Given the description of an element on the screen output the (x, y) to click on. 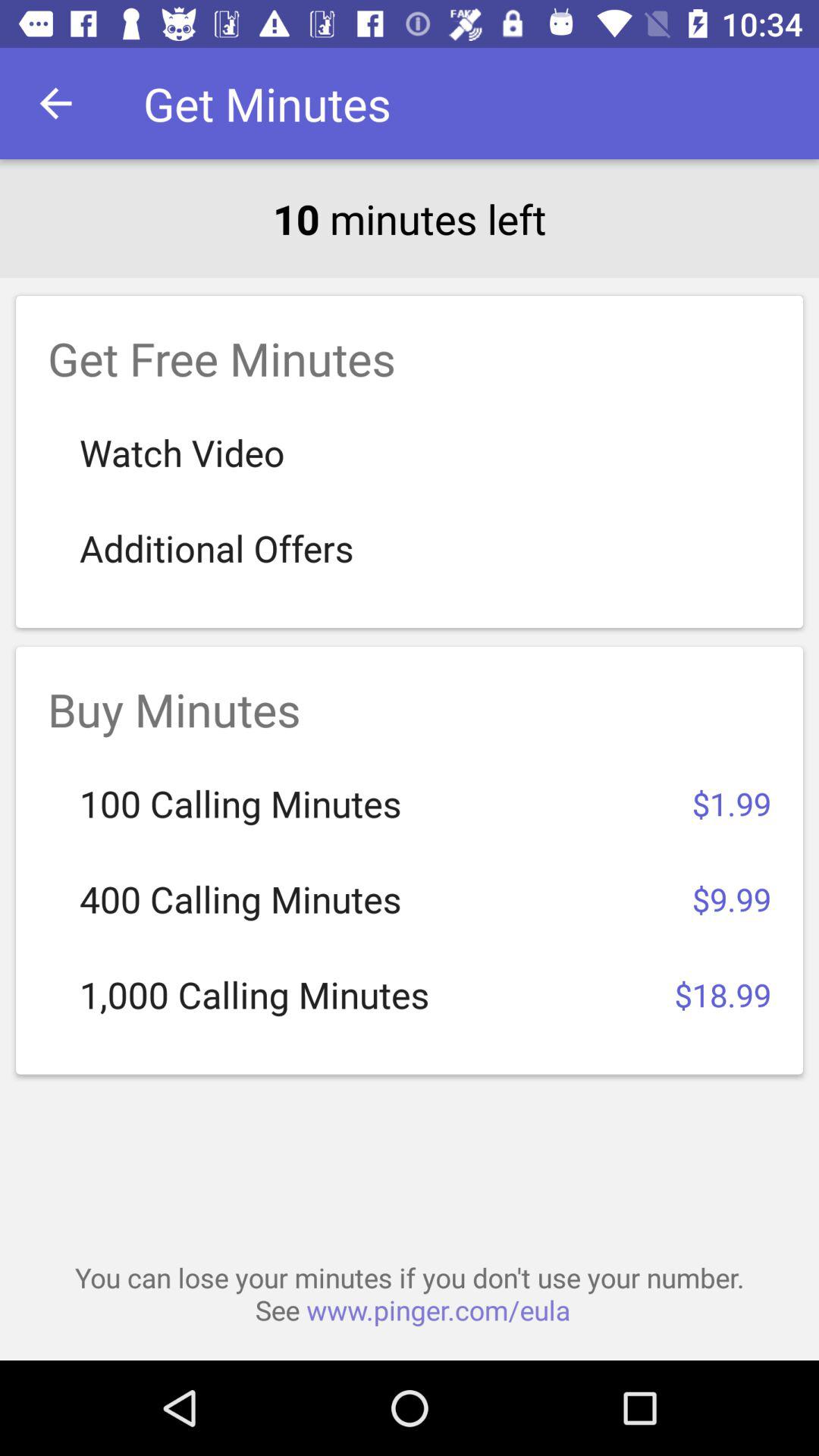
tap the you can lose (409, 1293)
